Given the description of an element on the screen output the (x, y) to click on. 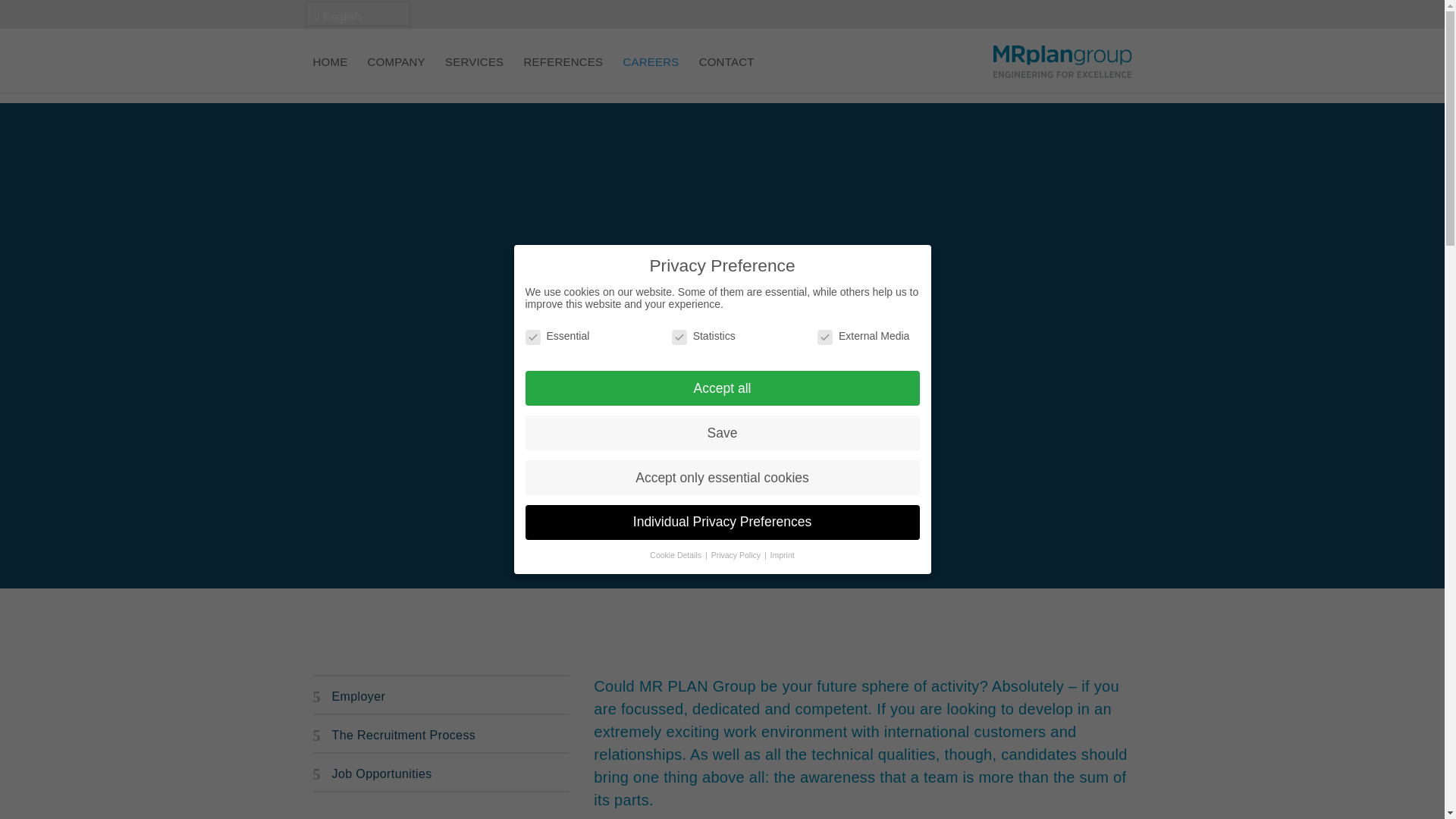
Save (721, 432)
CAREERS (650, 73)
COMPANY (396, 73)
HOME (330, 73)
Job Opportunities (441, 774)
CONTACT (726, 73)
Employer (441, 696)
English (356, 13)
SERVICES (474, 73)
The Recruitment Process (441, 735)
Accept all (721, 388)
REFERENCES (564, 73)
